Given the description of an element on the screen output the (x, y) to click on. 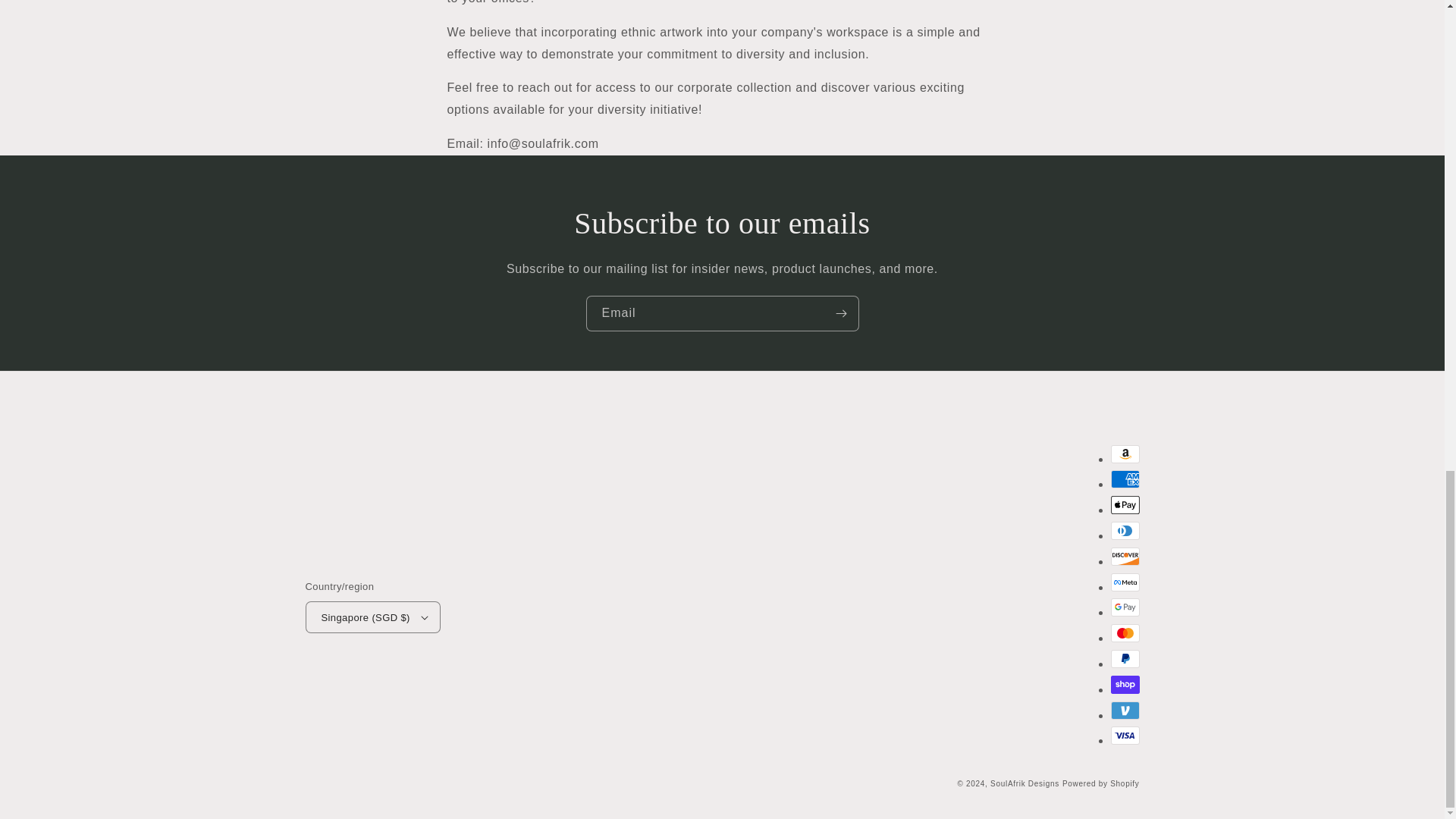
Apple Pay (1123, 505)
PayPal (1123, 659)
Visa (1123, 735)
Amazon (1123, 454)
Diners Club (1123, 530)
Discover (1123, 556)
Powered by Shopify (1101, 783)
Meta Pay (1123, 582)
Shop Pay (1123, 684)
American Express (1123, 479)
